Given the description of an element on the screen output the (x, y) to click on. 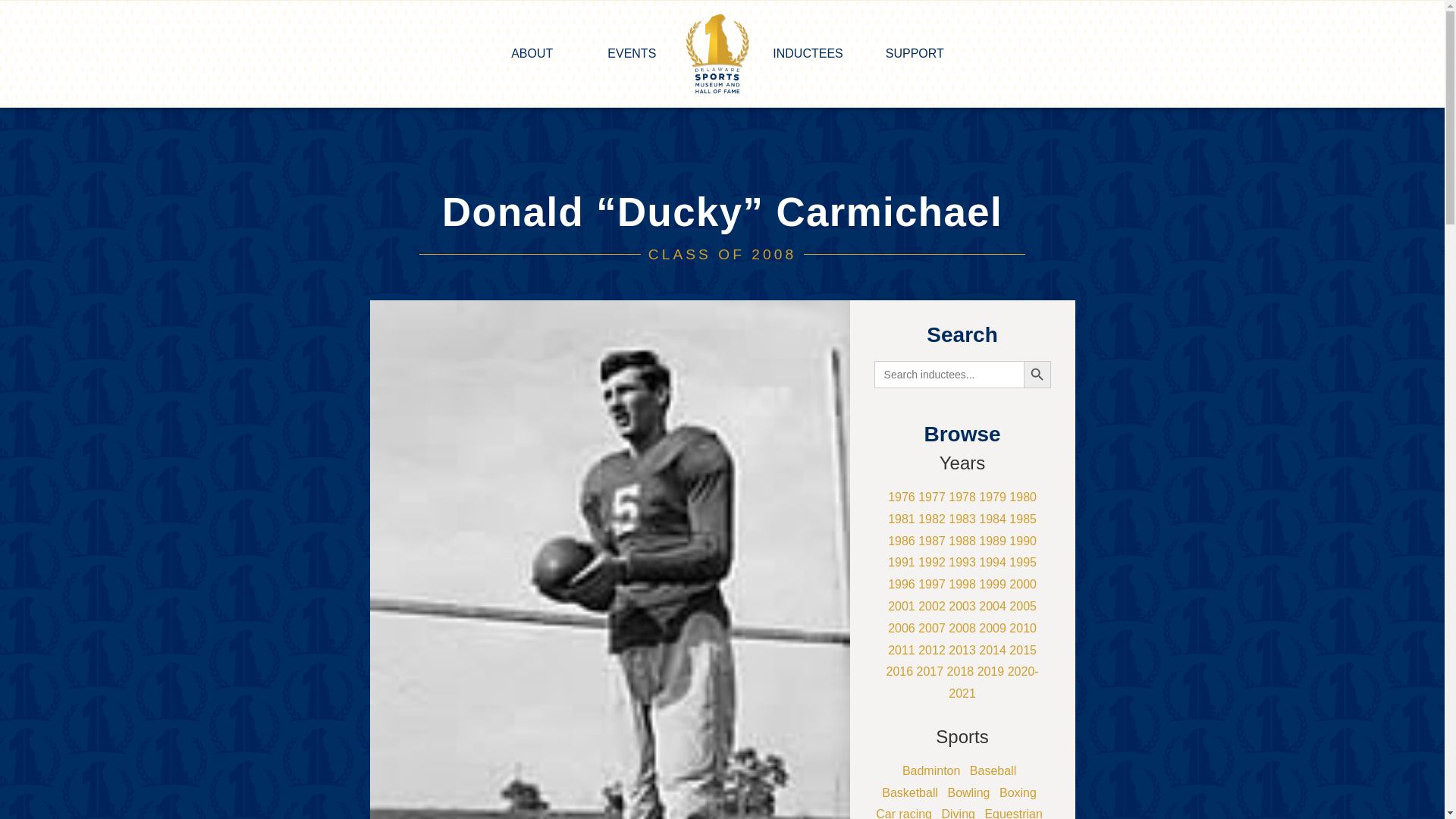
EVENTS (631, 53)
Delaware Sports Hall of Fame Inductees for 1987 (931, 540)
ABOUT (535, 53)
Delaware Sports Hall of Fame Inductees for 1980 (1022, 496)
Delaware Sports Hall of Fame Inductees for 1977 (931, 496)
Delaware Sports Hall of Fame Inductees for 1982 (931, 518)
SUPPORT (918, 53)
Delaware Sports Hall of Fame Inductees for 1978 (962, 496)
Delaware Sports Hall of Fame Inductees for 1981 (901, 518)
Delaware Sports Hall of Fame Inductees for 1988 (962, 540)
